Given the description of an element on the screen output the (x, y) to click on. 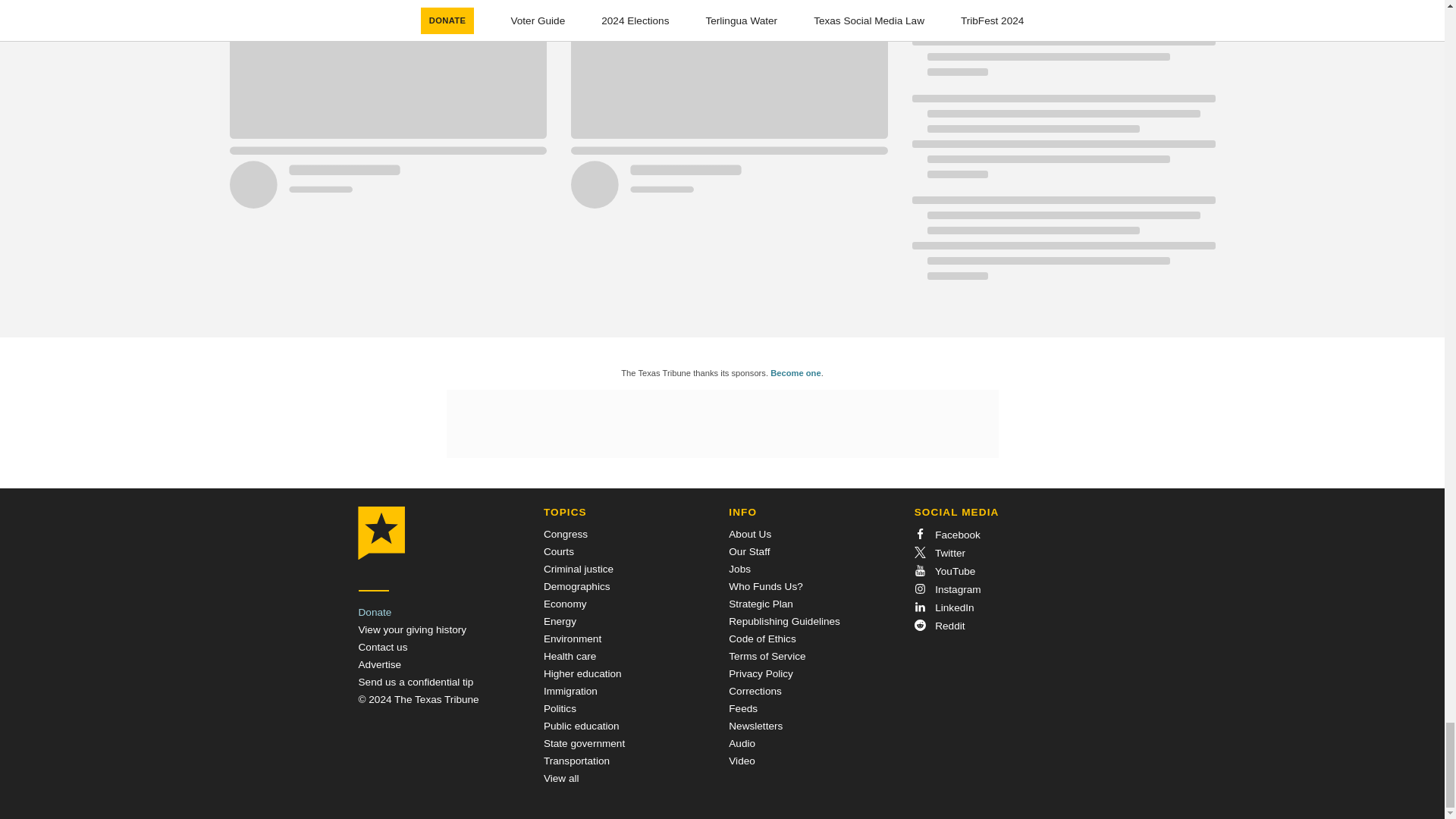
Corrections (755, 690)
Privacy Policy (761, 673)
Feeds (743, 708)
View your giving history (411, 629)
Strategic Plan (761, 603)
Advertise (379, 664)
About Us (750, 533)
Newsletters (756, 726)
Contact us (382, 646)
Facebook (946, 534)
